Given the description of an element on the screen output the (x, y) to click on. 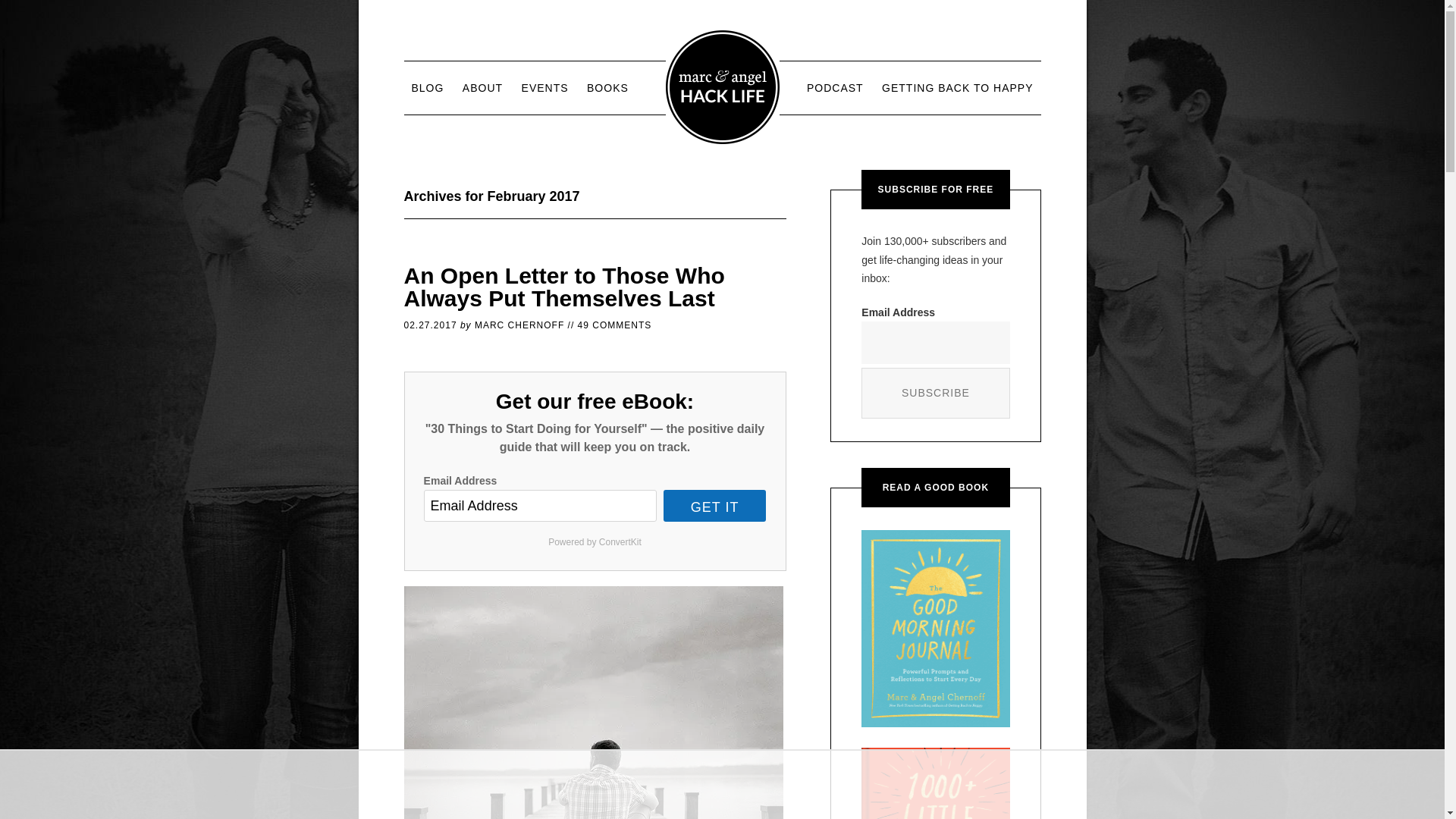
49 COMMENTS (615, 325)
SUBSCRIBE (935, 392)
ABOUT (482, 87)
BOOKS (607, 87)
GET IT (715, 505)
Powered by ConvertKit (595, 542)
An Open Letter to Those Who Always Put Themselves Last (563, 286)
EVENTS (544, 87)
BLOG (427, 87)
PODCAST (834, 87)
GETTING BACK TO HAPPY (958, 87)
MARC AND ANGEL HACK LIFE (721, 87)
